Given the description of an element on the screen output the (x, y) to click on. 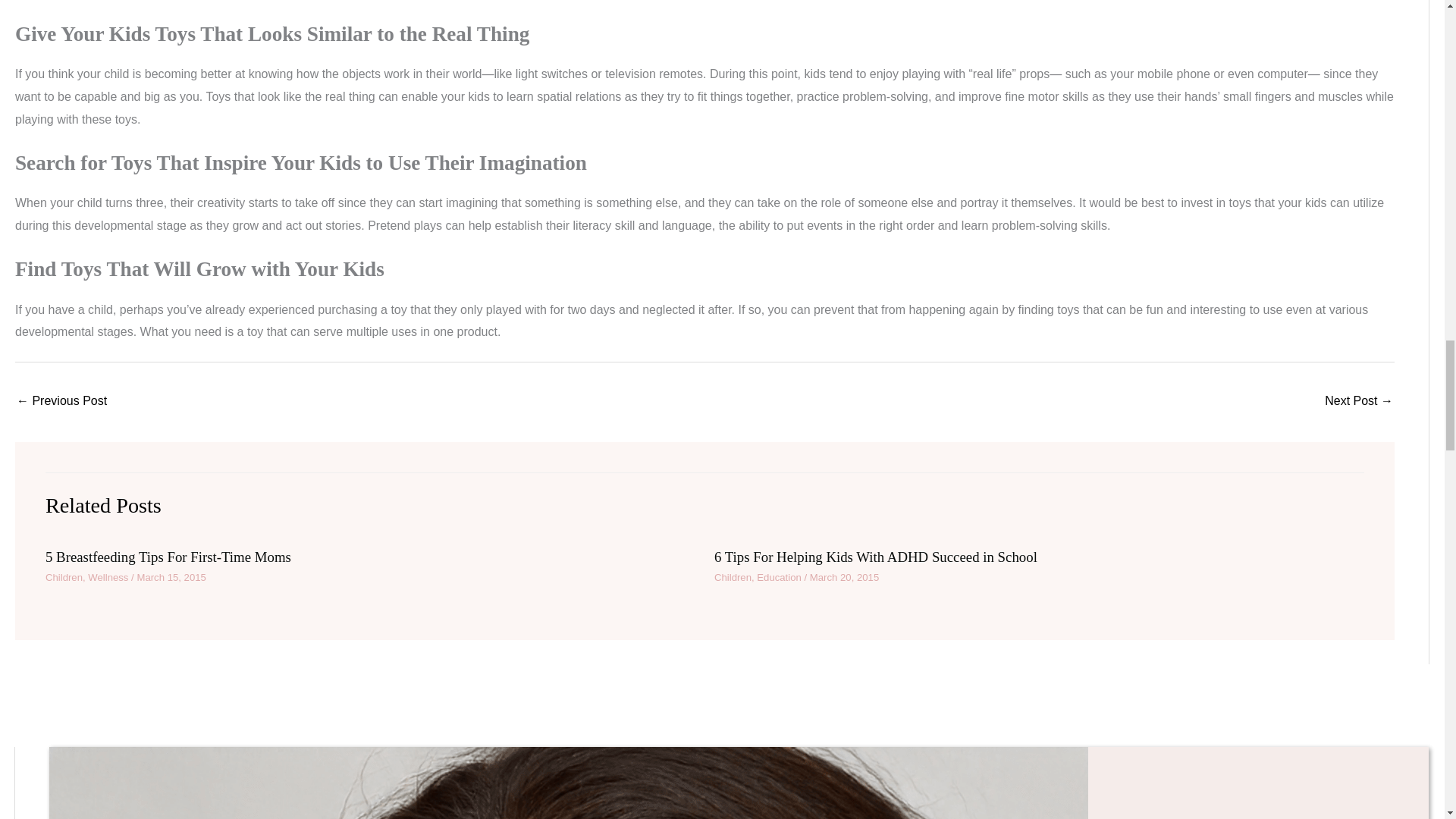
Education (779, 577)
Style Guide: 6 Tricks To Glam Up Your Home (61, 402)
Children (732, 577)
Wellness (107, 577)
5 Breastfeeding Tips For First-Time Moms (168, 556)
2 Reasons Why Australian Gin is a Versatile Drink (1358, 402)
6 Tips For Helping Kids With ADHD Succeed in School (875, 556)
Children (63, 577)
